Given the description of an element on the screen output the (x, y) to click on. 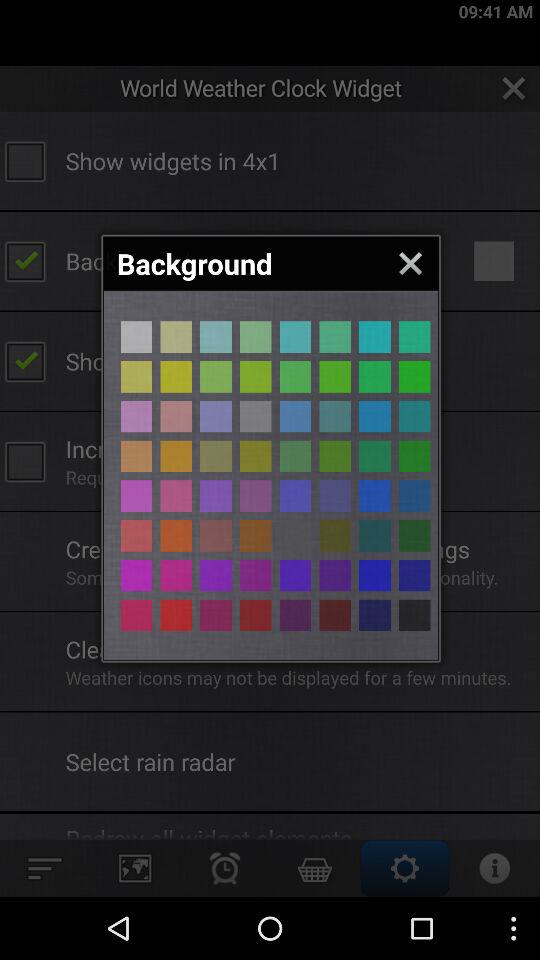
choose the colour (295, 575)
